Given the description of an element on the screen output the (x, y) to click on. 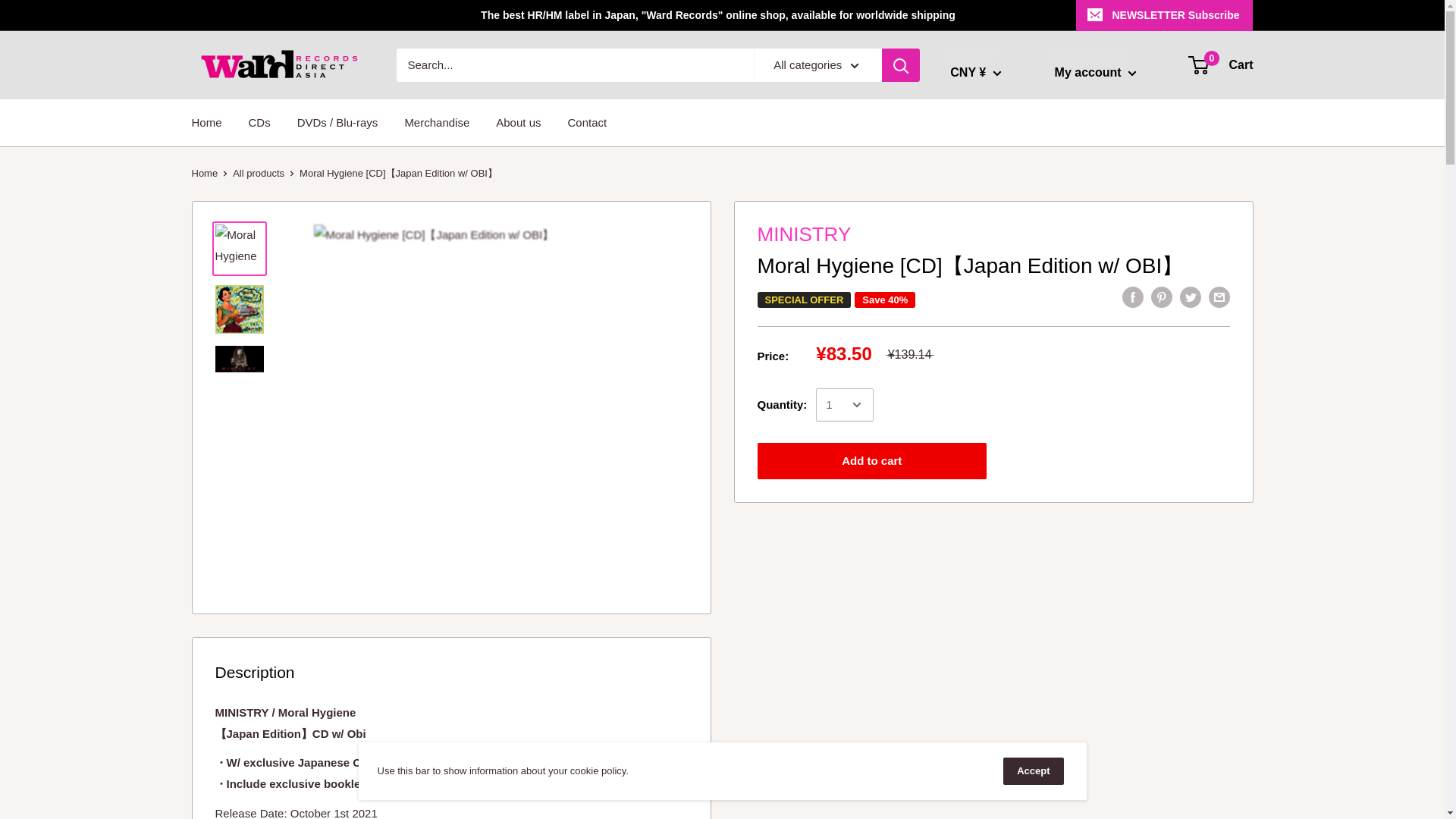
AUD (999, 331)
AMD (999, 287)
BZD (999, 593)
CNY (999, 659)
BGN (999, 462)
BAM (999, 396)
BIF (999, 484)
CDF (999, 615)
AZN (999, 375)
BOB (999, 527)
